Given the description of an element on the screen output the (x, y) to click on. 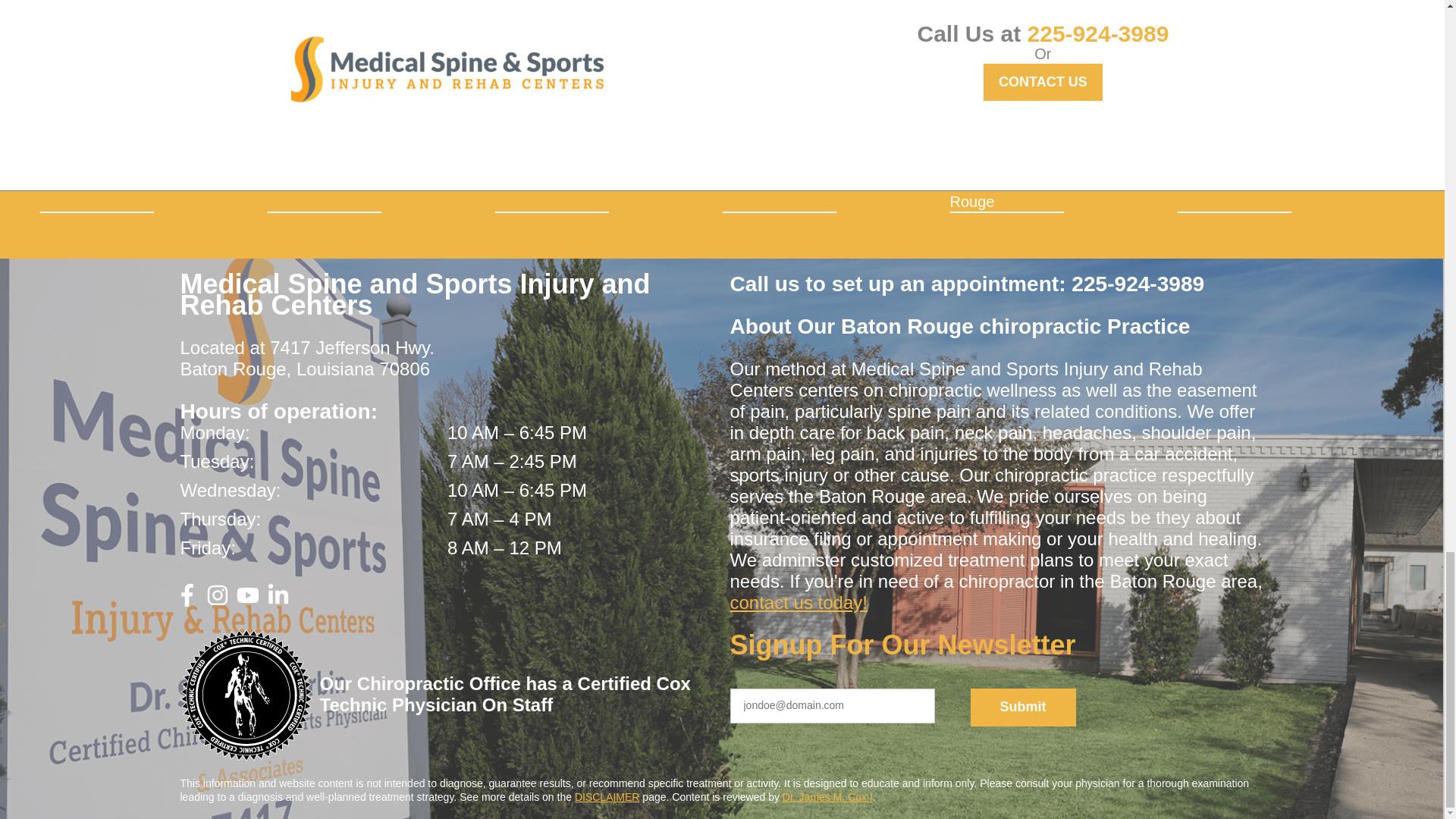
Submit (1023, 707)
Connect with us on LinkedIn (277, 600)
Like us on Facebook (187, 600)
Subscribe to us on YouTube (247, 600)
Follow us on Instagram (217, 600)
